Given the description of an element on the screen output the (x, y) to click on. 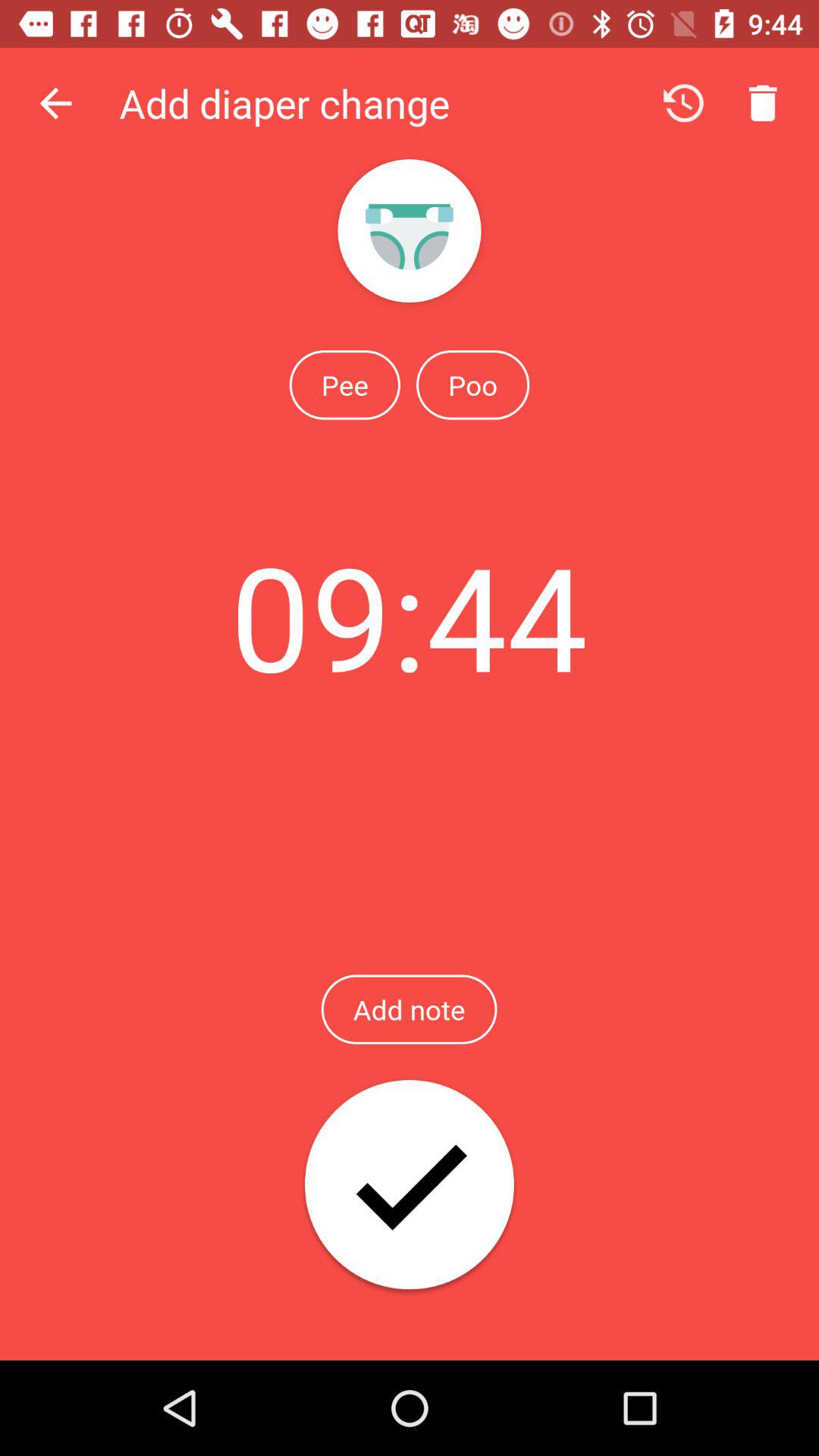
flip to the poo icon (472, 384)
